Given the description of an element on the screen output the (x, y) to click on. 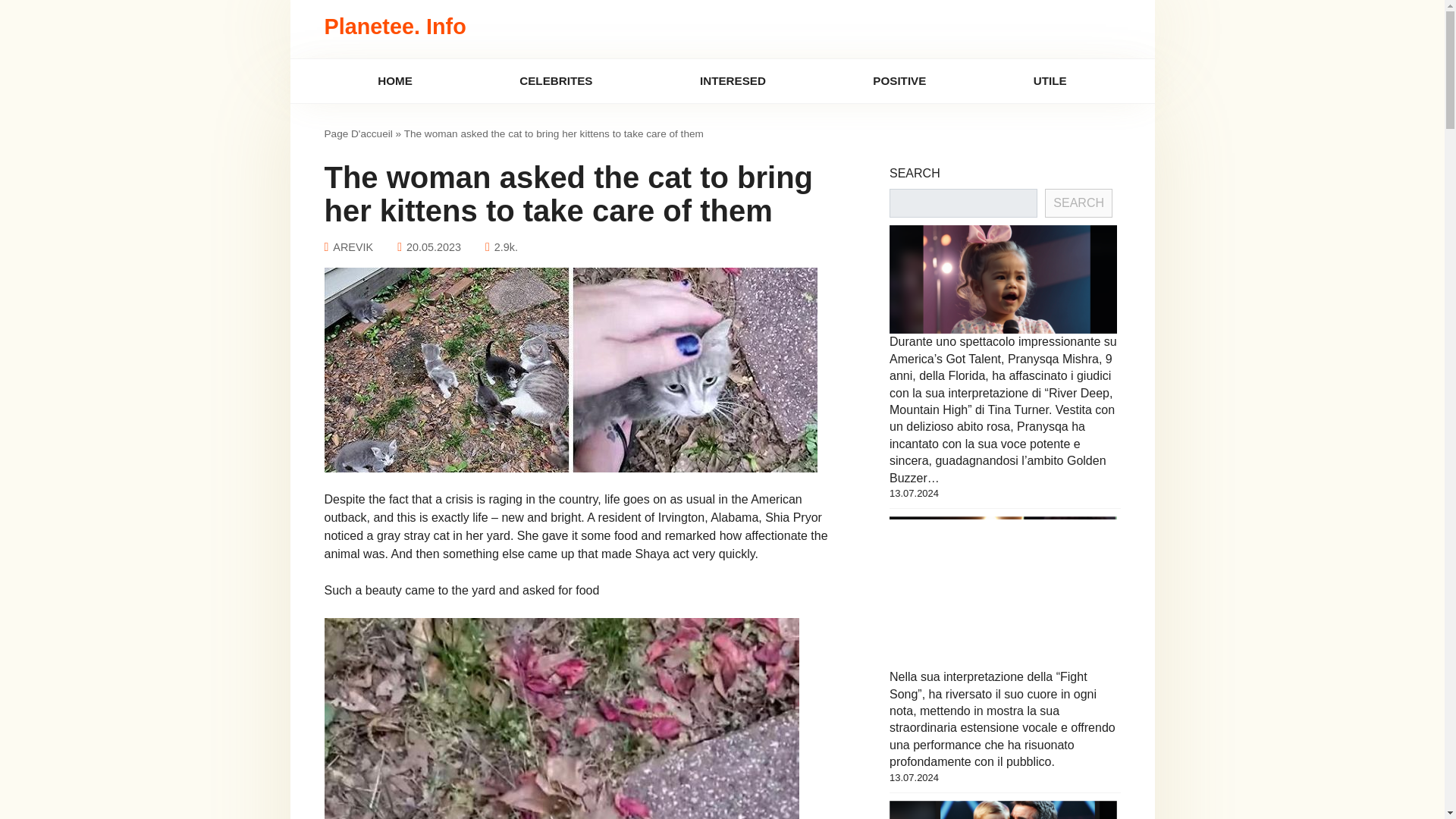
CELEBRITES (555, 81)
UTILE (1049, 81)
Planetee. Info (394, 26)
POSITIVE (899, 81)
SEARCH (1078, 203)
INTERESED (732, 81)
HOME (394, 81)
